Given the description of an element on the screen output the (x, y) to click on. 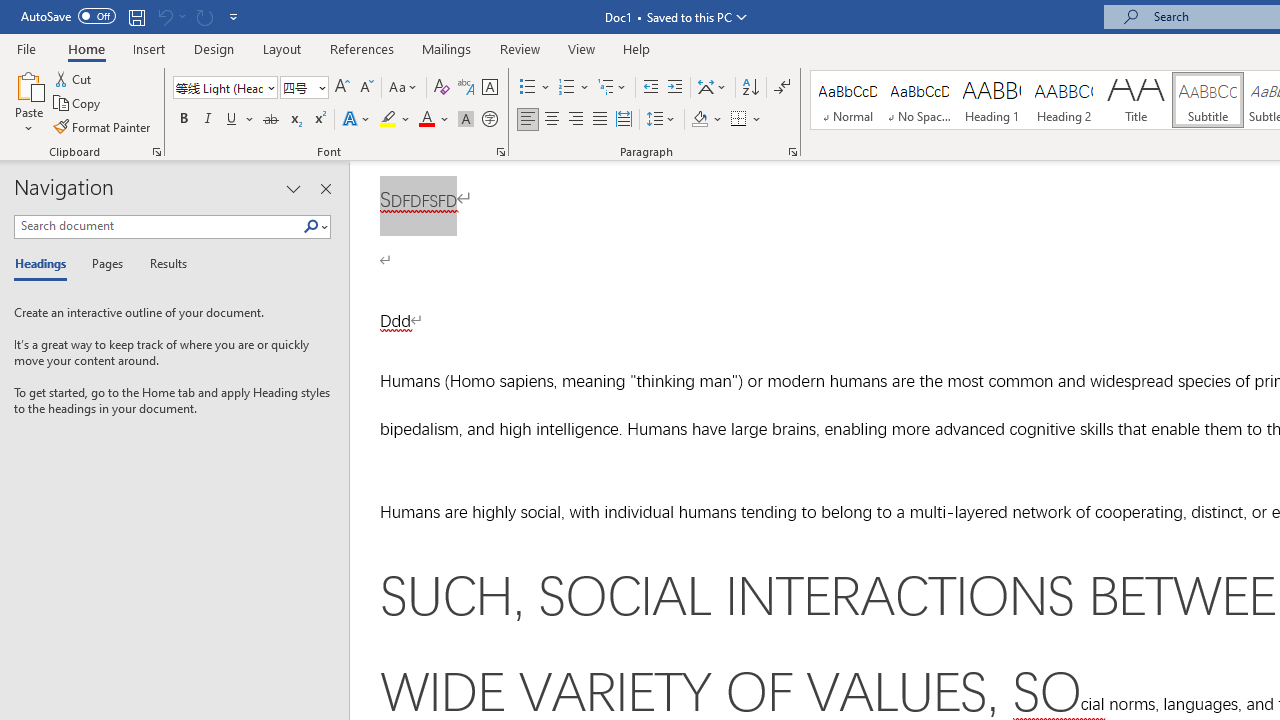
Asian Layout (712, 87)
Cut (73, 78)
Strikethrough (270, 119)
Heading 1 (991, 100)
Headings (45, 264)
AutoSave (68, 16)
Borders (739, 119)
Results (161, 264)
Numbering (573, 87)
Insert (149, 48)
Text Highlight Color (395, 119)
Format Painter (103, 126)
Increase Indent (675, 87)
